Given the description of an element on the screen output the (x, y) to click on. 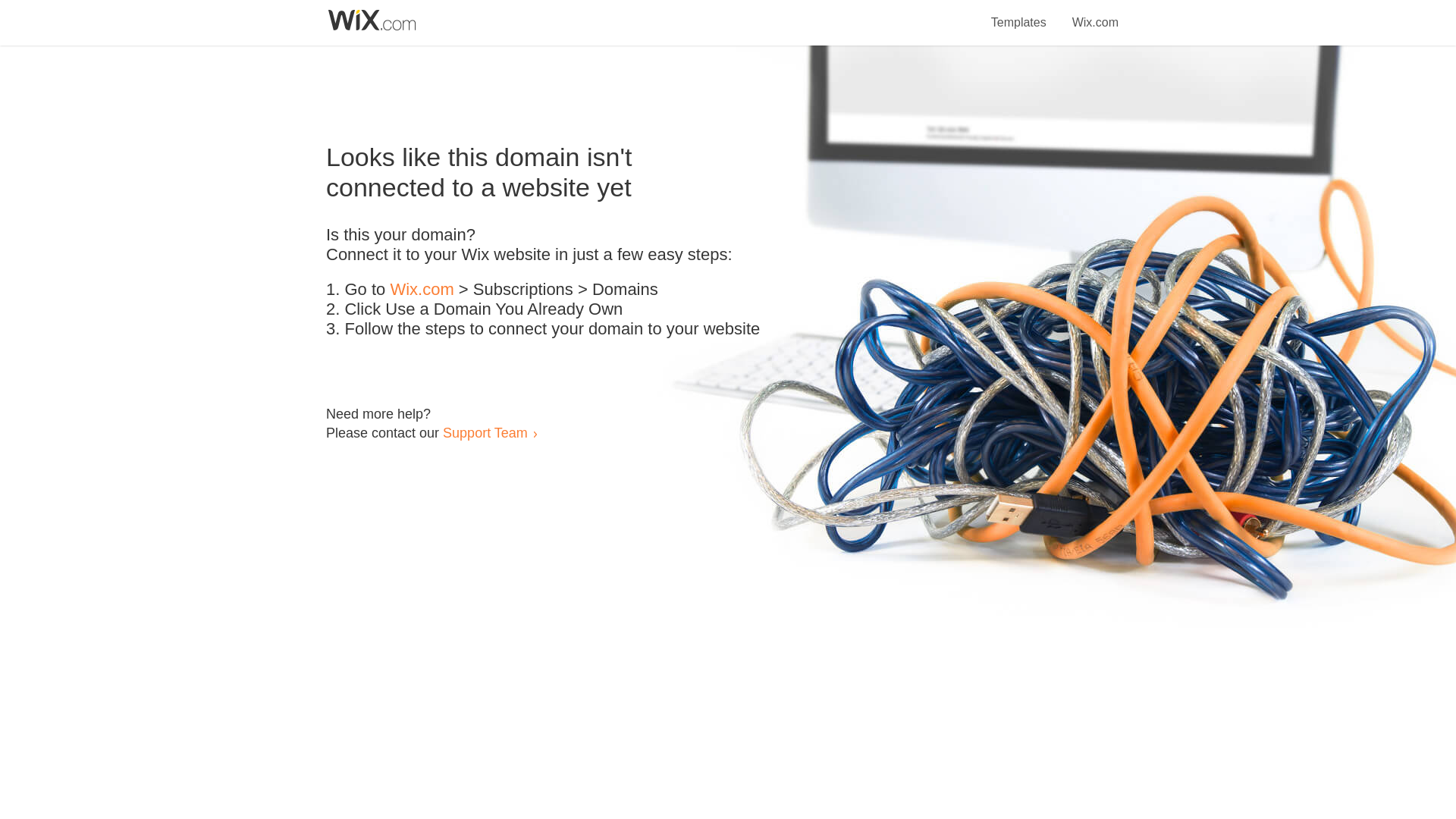
Templates (1018, 14)
Wix.com (421, 289)
Support Team (484, 432)
Wix.com (1095, 14)
